Given the description of an element on the screen output the (x, y) to click on. 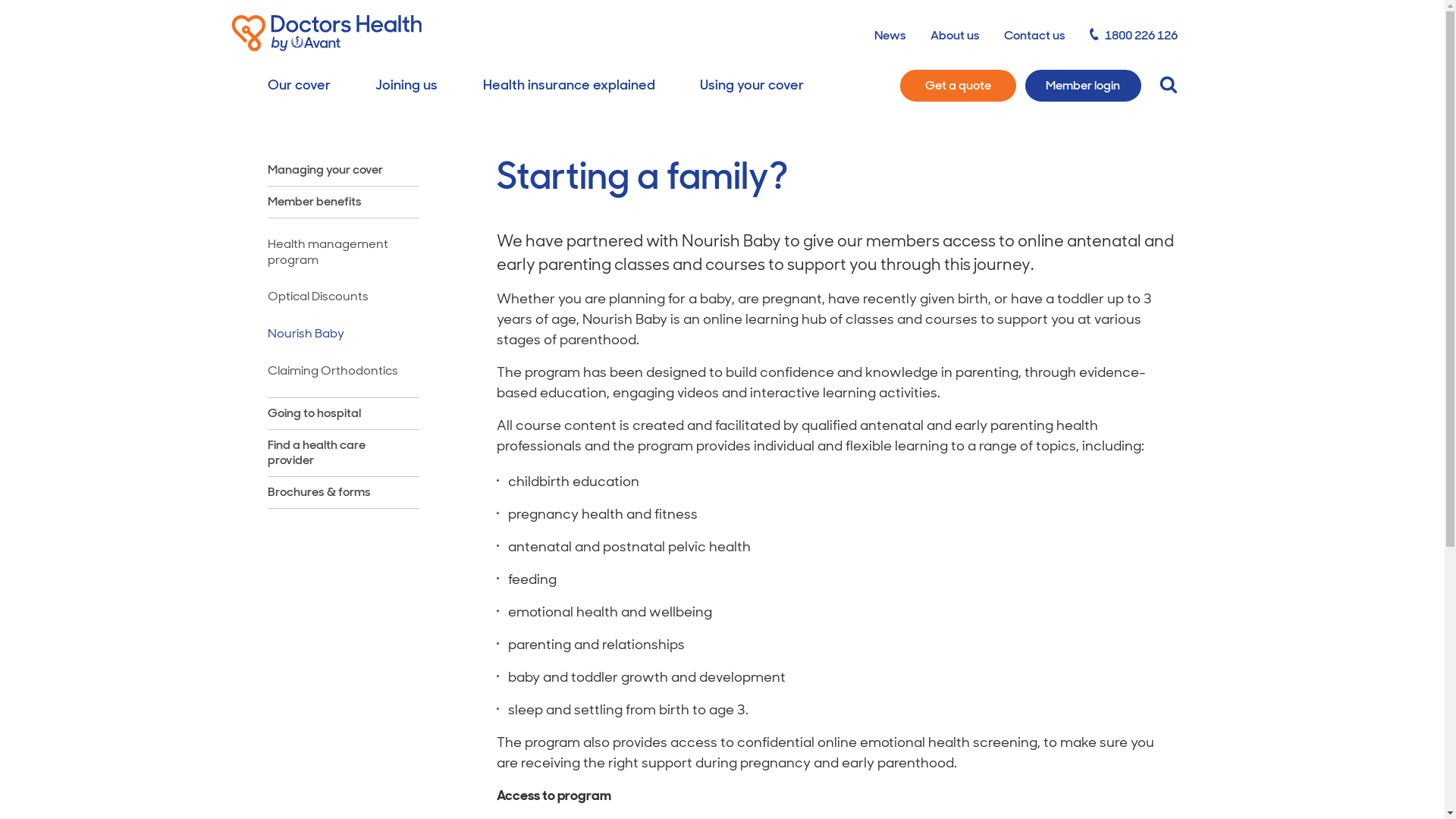
Using your cover Element type: text (751, 85)
Health management program Element type: text (342, 252)
Optical Discounts Element type: text (342, 296)
Claiming Orthodontics Element type: text (342, 370)
Get a quote Element type: text (957, 85)
About us Element type: text (954, 34)
Contact us Element type: text (1034, 34)
Health insurance explained Element type: text (569, 85)
Brochures & forms Element type: text (318, 492)
Nourish Baby Element type: text (342, 333)
News Element type: text (890, 34)
1800 226 126 Element type: text (1133, 34)
Member login Element type: text (1083, 85)
Our cover Element type: text (297, 85)
Joining us Element type: text (406, 85)
Going to hospital Element type: text (313, 413)
